Given the description of an element on the screen output the (x, y) to click on. 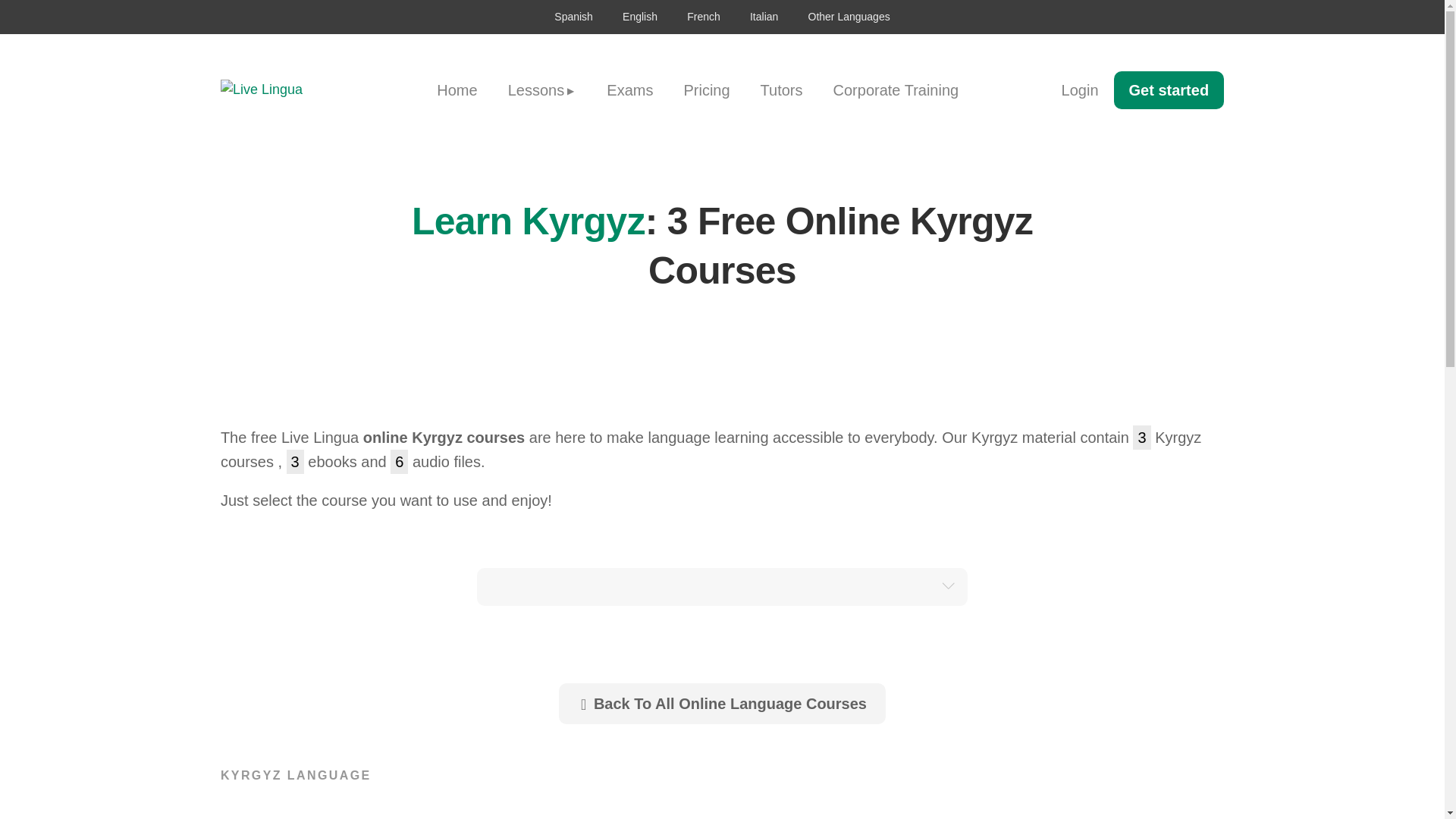
Pricing (706, 89)
Exams (629, 89)
Live Lingua (285, 89)
Italian (764, 16)
Corporate Training (896, 89)
Login (1079, 89)
French tutors online (703, 16)
Tutors (781, 89)
Other Languages (848, 16)
Italian tutors online (764, 16)
